Given the description of an element on the screen output the (x, y) to click on. 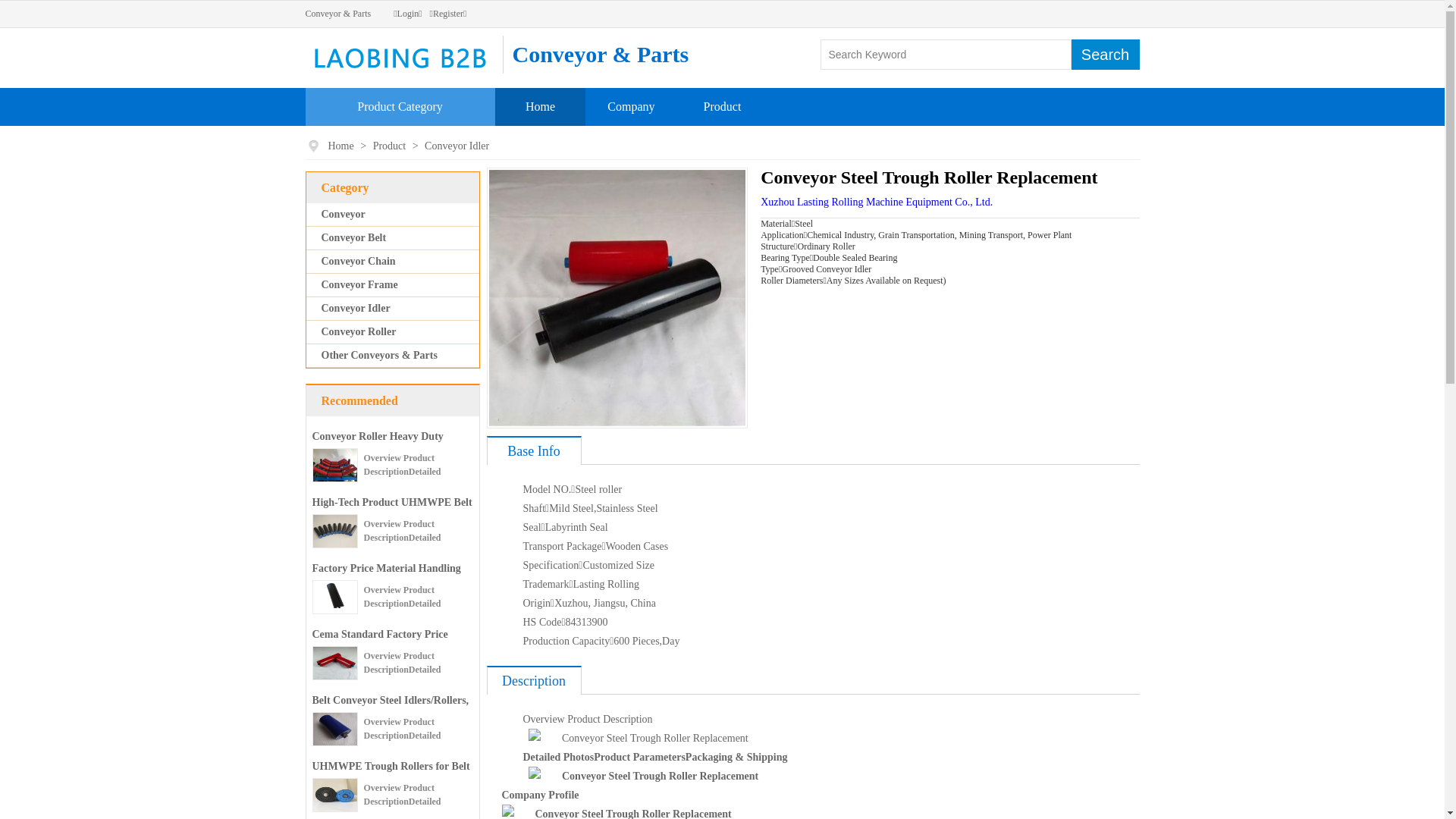
Conveyor Idler Element type: text (355, 307)
Other Conveyors & Parts Element type: text (379, 354)
Product Category Element type: text (399, 106)
Conveyor Frame Element type: text (359, 284)
Search Element type: text (1104, 54)
Product Element type: text (722, 106)
Conveyor Roller Element type: text (358, 331)
Conveyor Roller Heavy Duty Roller Bracket Station Element type: text (377, 447)
Conveyor Element type: text (343, 213)
Xuzhou Lasting Rolling Machine Equipment Co., Ltd. Element type: text (876, 201)
Company Element type: text (630, 106)
Conveyor Idler Element type: text (456, 145)
Home Element type: text (340, 145)
Home Element type: text (540, 106)
Conveyor Chain Element type: text (358, 260)
Conveyor & Parts Element type: text (337, 13)
High-Tech Product UHMWPE Belt Conveyor Guide Roller Carrier Element type: text (392, 513)
Conveyor Belt Element type: text (353, 237)
Product Element type: text (390, 145)
